Given the description of an element on the screen output the (x, y) to click on. 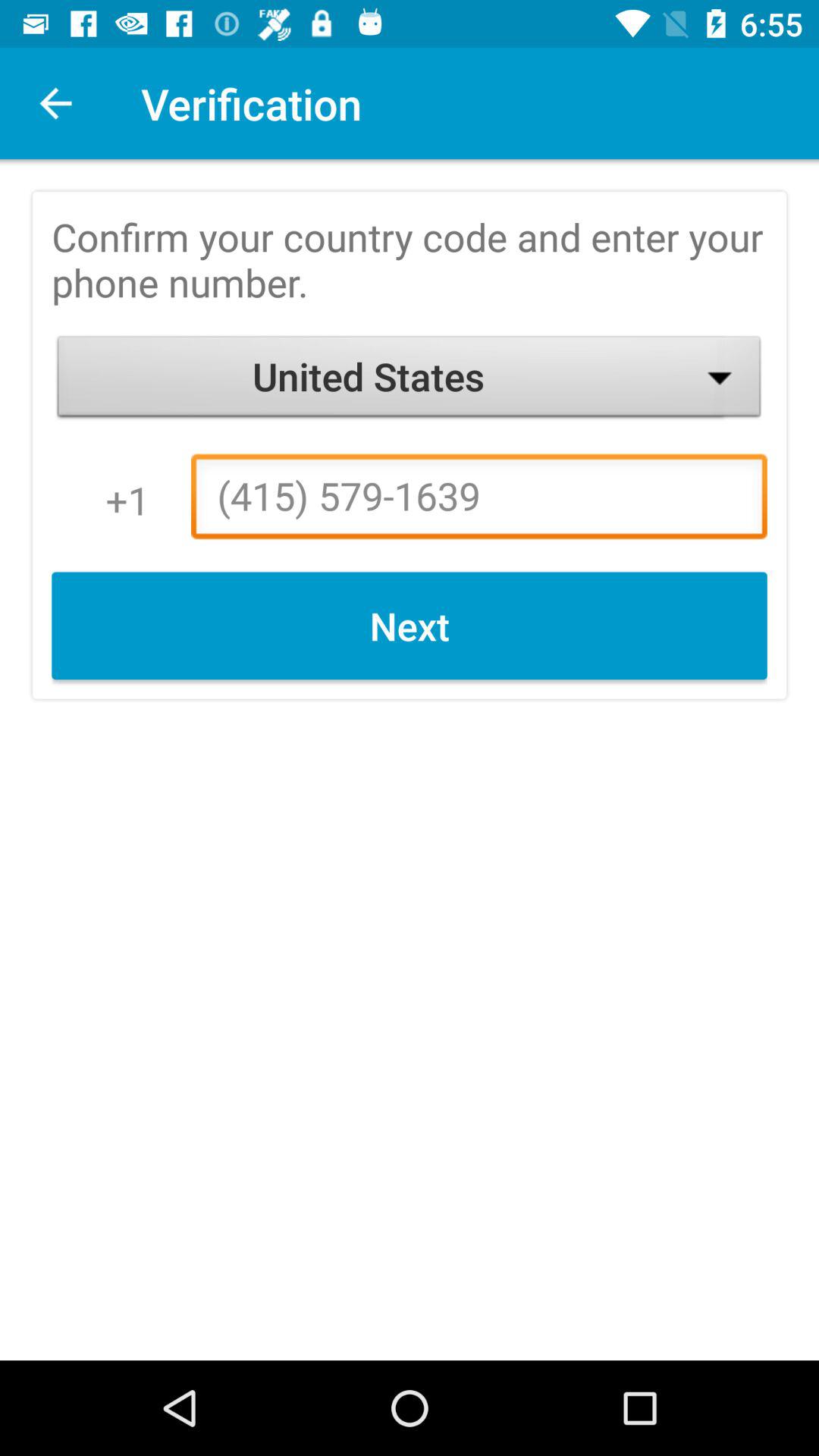
select icon to the left of   verification item (55, 103)
